Given the description of an element on the screen output the (x, y) to click on. 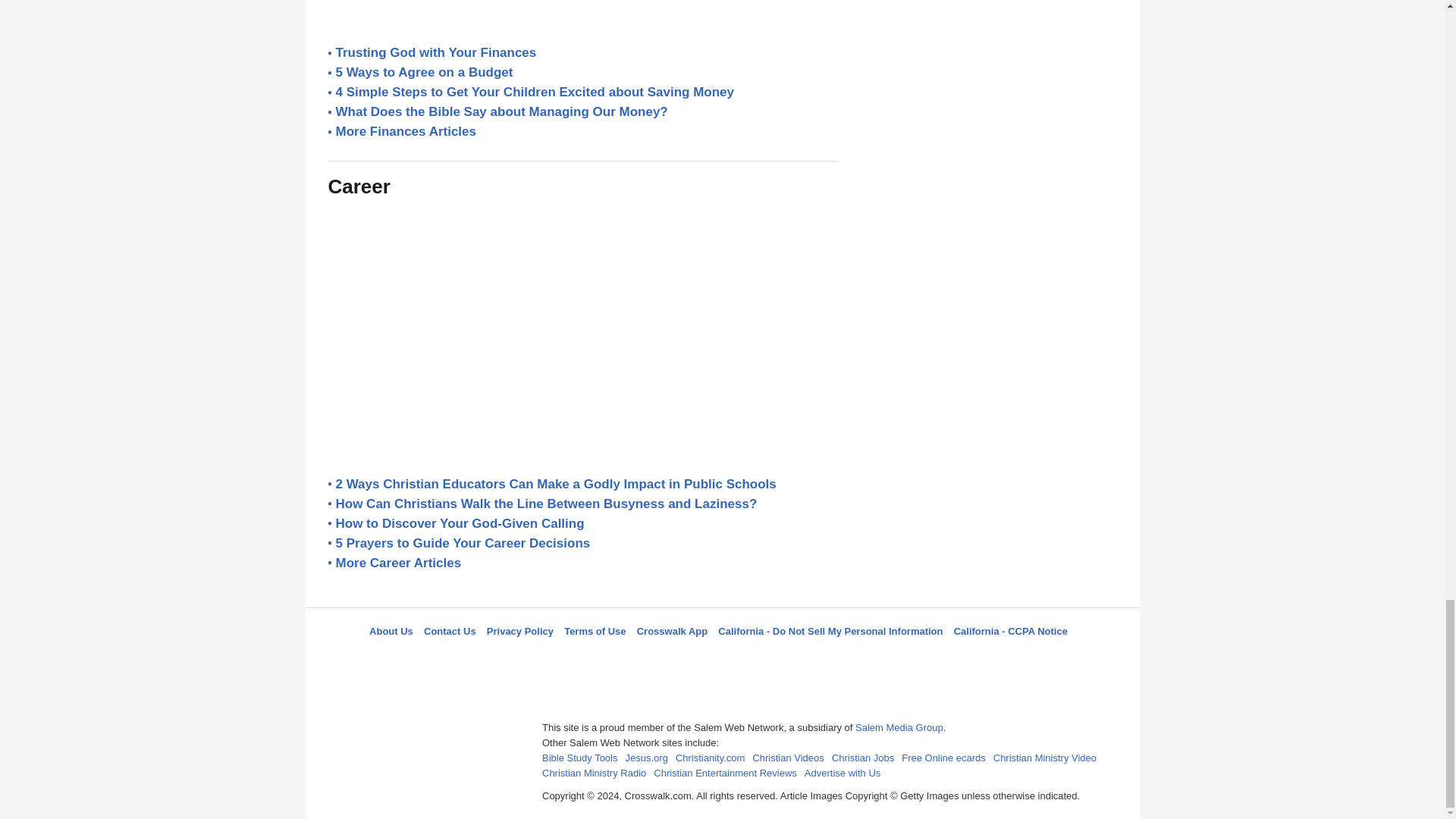
YouTube (795, 658)
LifeAudio (719, 658)
Pinterest (757, 658)
Facebook (645, 658)
Twitter (683, 658)
